Given the description of an element on the screen output the (x, y) to click on. 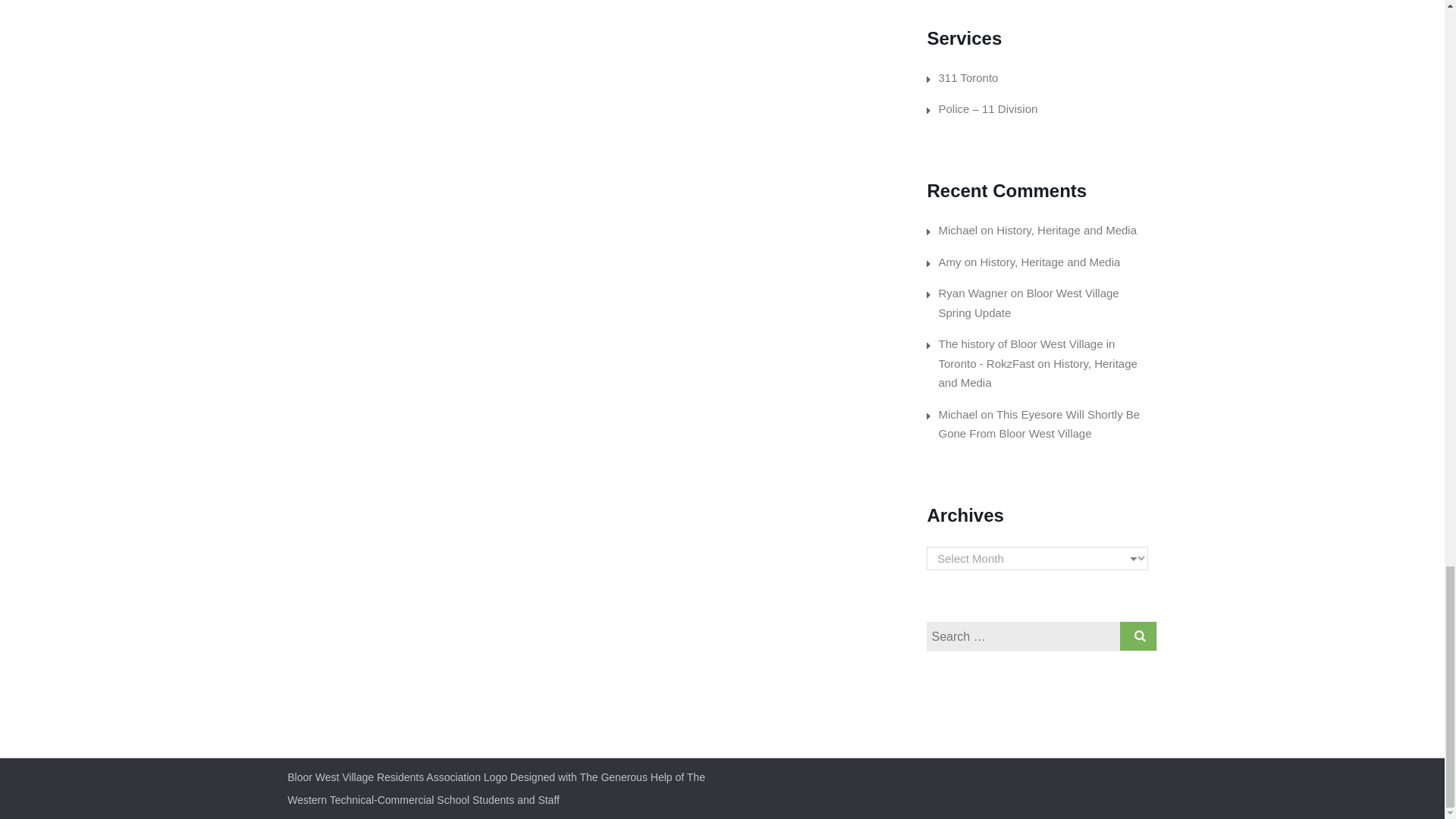
Search (1137, 635)
Search (1137, 635)
